Given the description of an element on the screen output the (x, y) to click on. 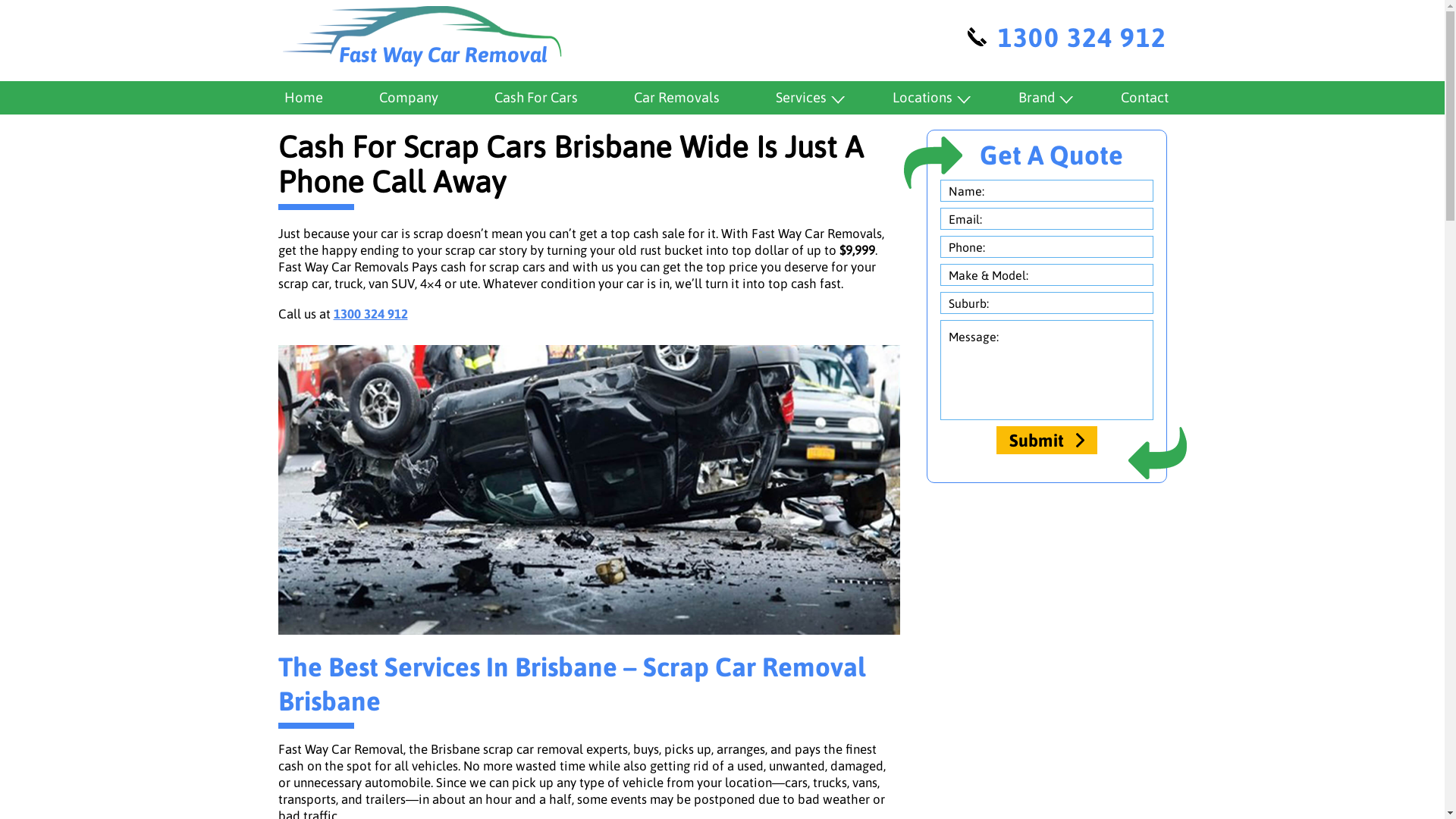
Locations Element type: text (926, 97)
Brand Element type: text (1040, 97)
Fast Way Car Removal Element type: text (422, 36)
Company Element type: text (408, 97)
Home Element type: text (302, 97)
Contact Element type: text (1140, 97)
Scrap Car for Cash Element type: hover (588, 489)
Cash For Cars Element type: text (535, 97)
Services Element type: text (805, 97)
Car Removals Element type: text (676, 97)
Fast Way Car Removal Element type: hover (422, 36)
Submit Element type: text (1046, 440)
1300 324 912 Element type: text (370, 313)
1300 324 912 Element type: text (1064, 40)
